Given the description of an element on the screen output the (x, y) to click on. 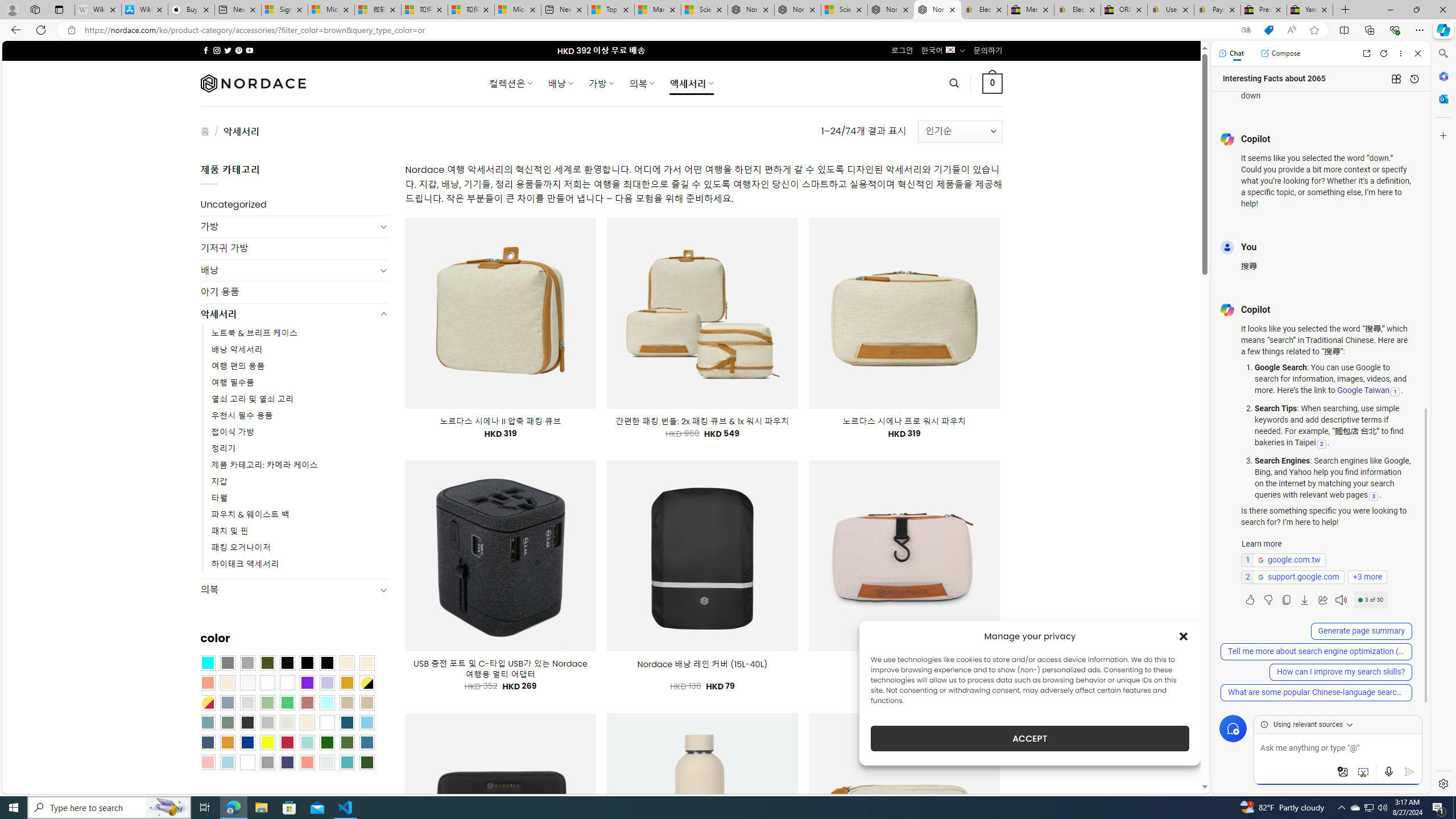
Follow on YouTube (249, 50)
Coral (207, 681)
